Given the description of an element on the screen output the (x, y) to click on. 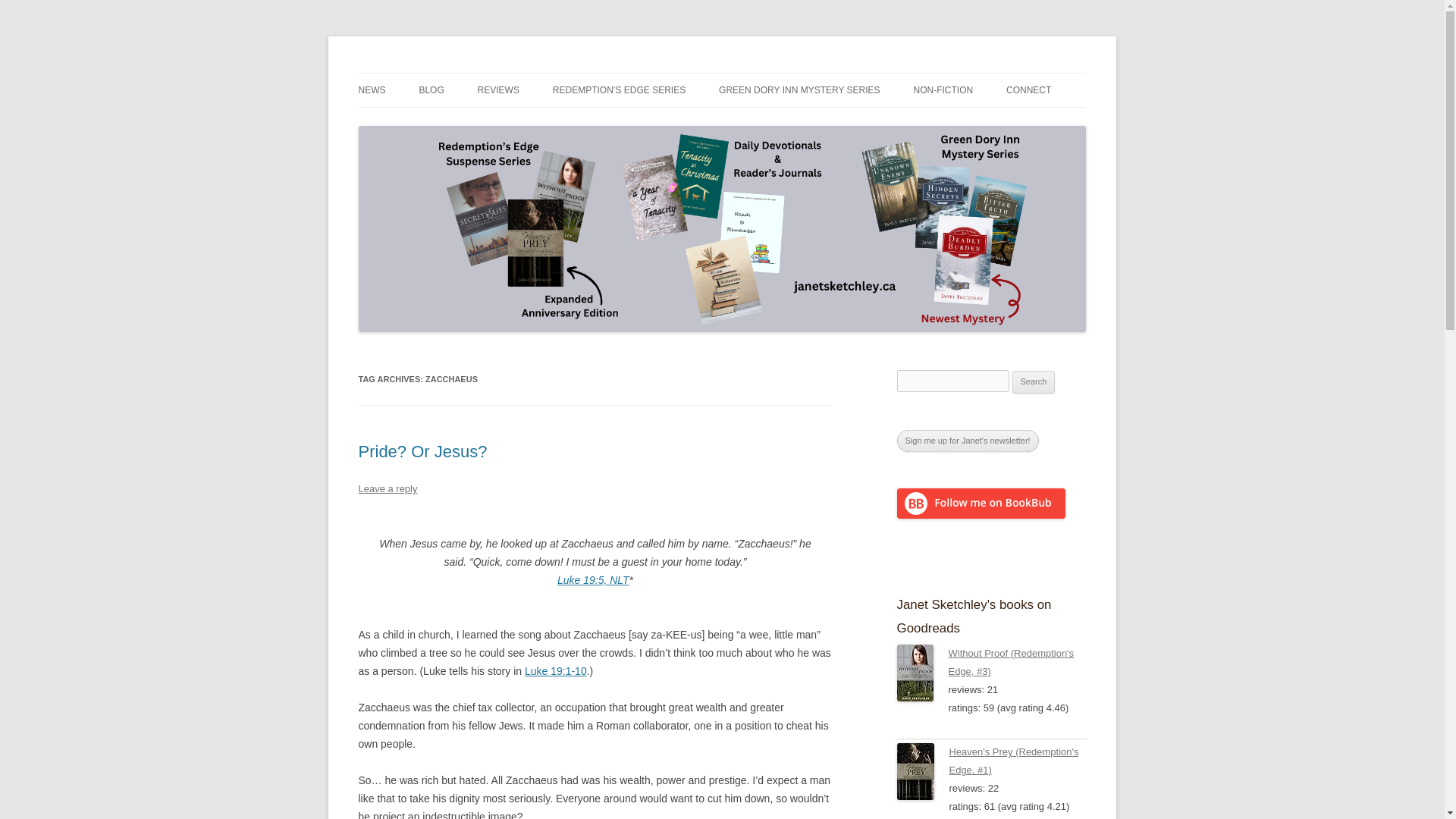
Luke 19:5, NLT at Biblegateway.com (592, 580)
CONNECT (1028, 90)
UNKNOWN ENEMY (794, 122)
Leave a reply (387, 488)
ABOUT (1081, 122)
Pride? Or Jesus? (422, 451)
FICTION (552, 122)
Janet Sketchley (432, 72)
A YEAR OF TENACITY: 365 DAILY DEVOTIONS (988, 131)
Search (1033, 382)
